Given the description of an element on the screen output the (x, y) to click on. 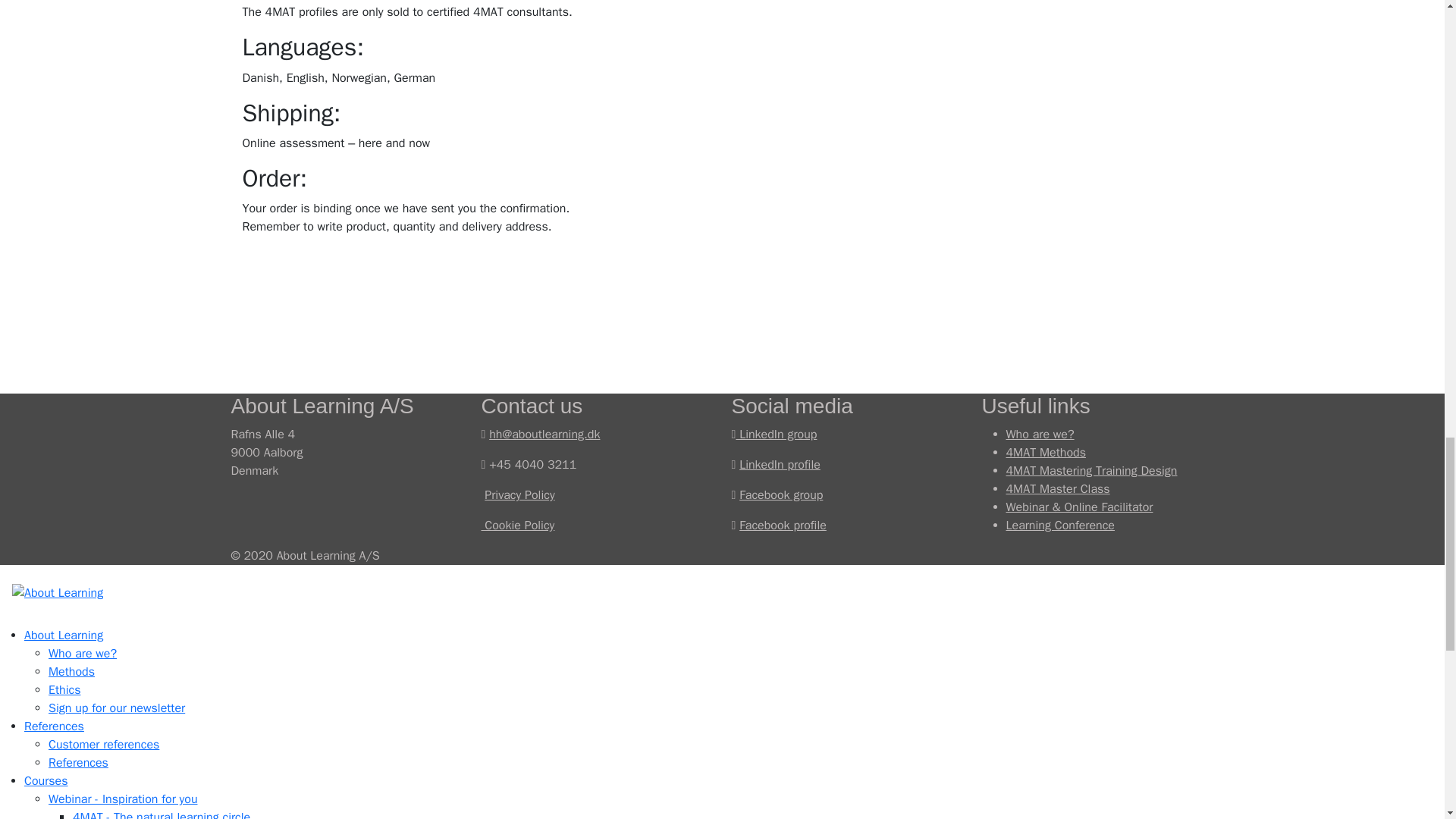
Read our Privacy Policy here (519, 494)
